Given the description of an element on the screen output the (x, y) to click on. 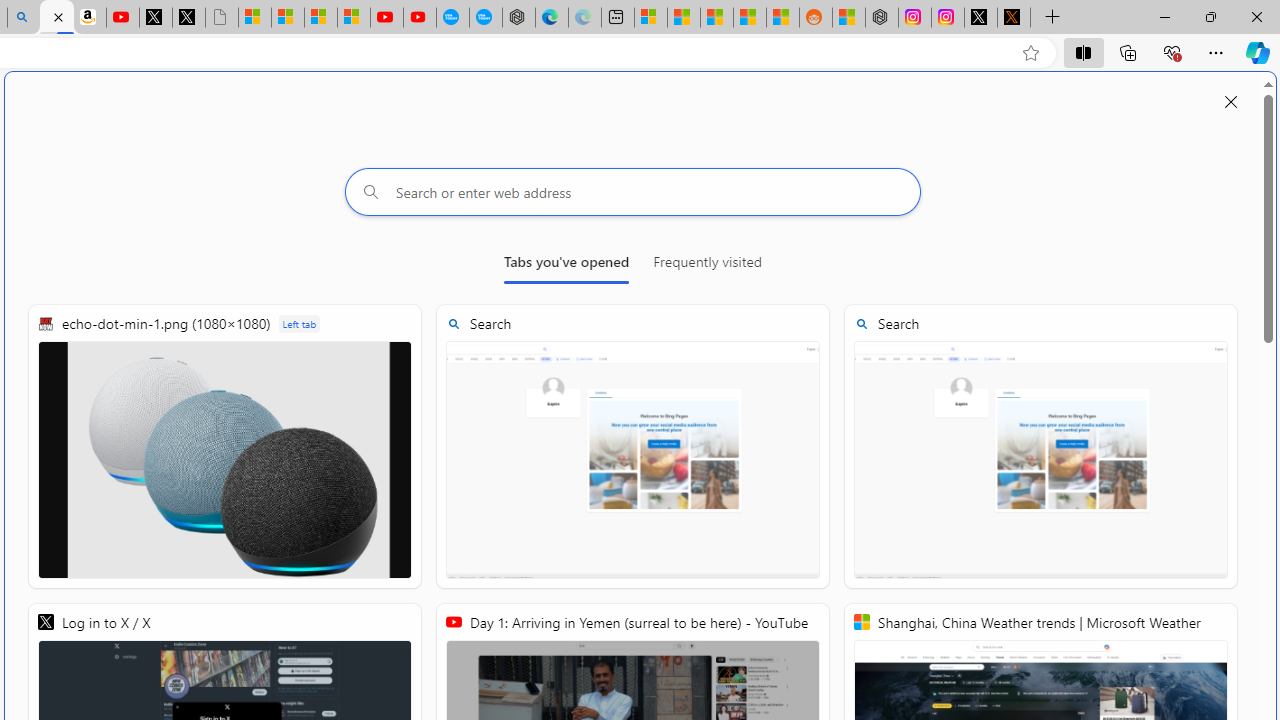
Log in to X / X (981, 17)
Copilot (Ctrl+Shift+.) (1258, 52)
Split screen (1083, 52)
Untitled (222, 17)
Add this page to favorites (Ctrl+D) (1030, 53)
Search (1040, 446)
Restore (1210, 16)
Collections (1128, 52)
help.x.com | 524: A timeout occurred (1014, 17)
Close split screen (1231, 102)
